Given the description of an element on the screen output the (x, y) to click on. 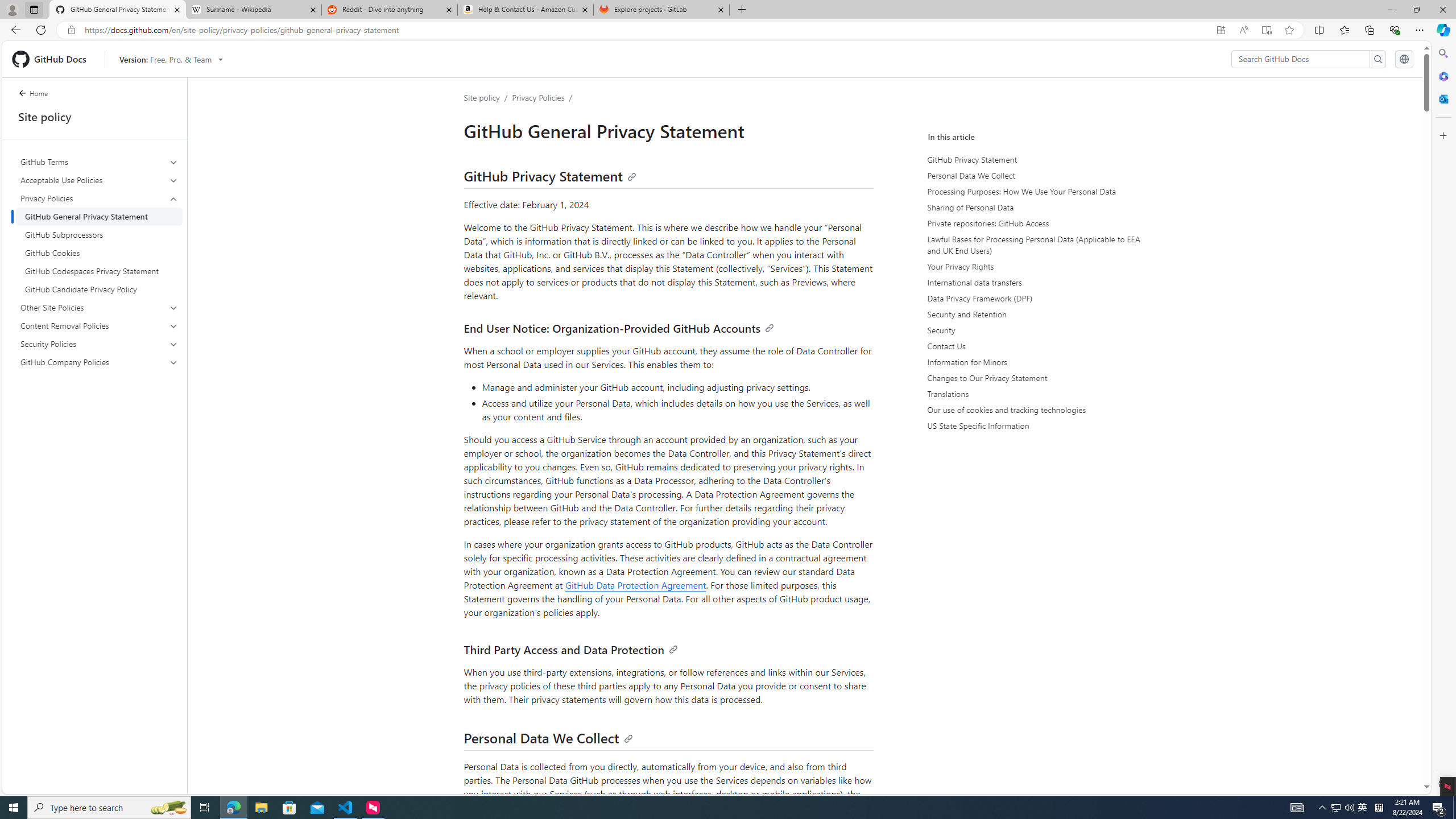
Content Removal Policies (99, 325)
GitHub Candidate Privacy Policy (99, 289)
GitHub Company Policies (99, 361)
Your Privacy Rights (1034, 266)
GitHub Candidate Privacy Policy (99, 289)
Security (1034, 330)
Search GitHub Docs (1300, 58)
International data transfers (1032, 282)
